Given the description of an element on the screen output the (x, y) to click on. 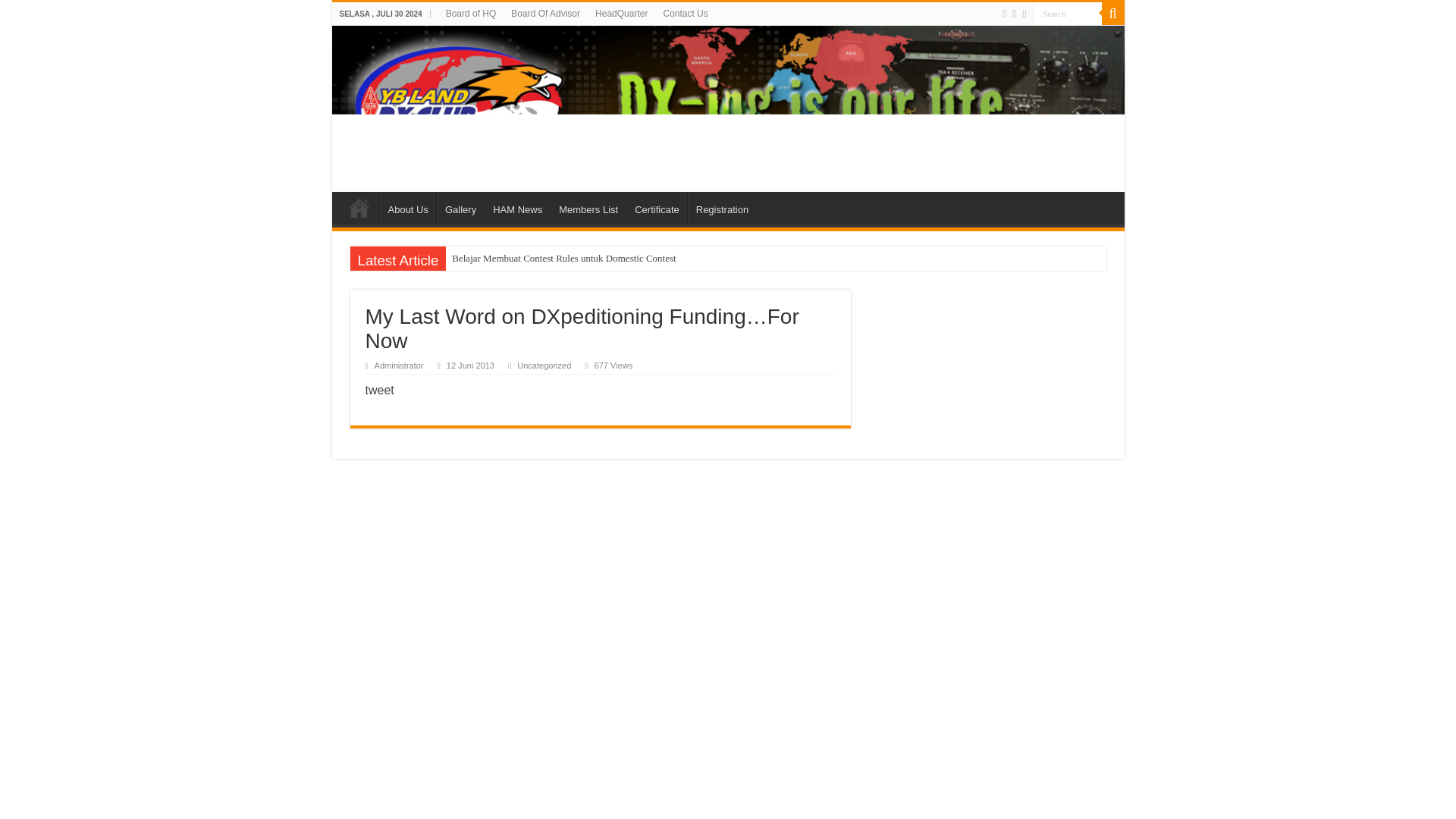
Administrator (398, 365)
Belajar Membuat Contest Rules untuk Domestic Contest (660, 258)
Certificate (656, 207)
Search (1066, 13)
Search (1066, 13)
Contact Us (684, 13)
Belajar Membuat Contest Rules untuk Domestic Contest (660, 258)
About Us (406, 207)
tweet (379, 390)
Uncategorized (543, 365)
Registration (721, 207)
HAM News (517, 207)
YB Land DX Club (727, 108)
Board of HQ (470, 13)
Search (1066, 13)
